Given the description of an element on the screen output the (x, y) to click on. 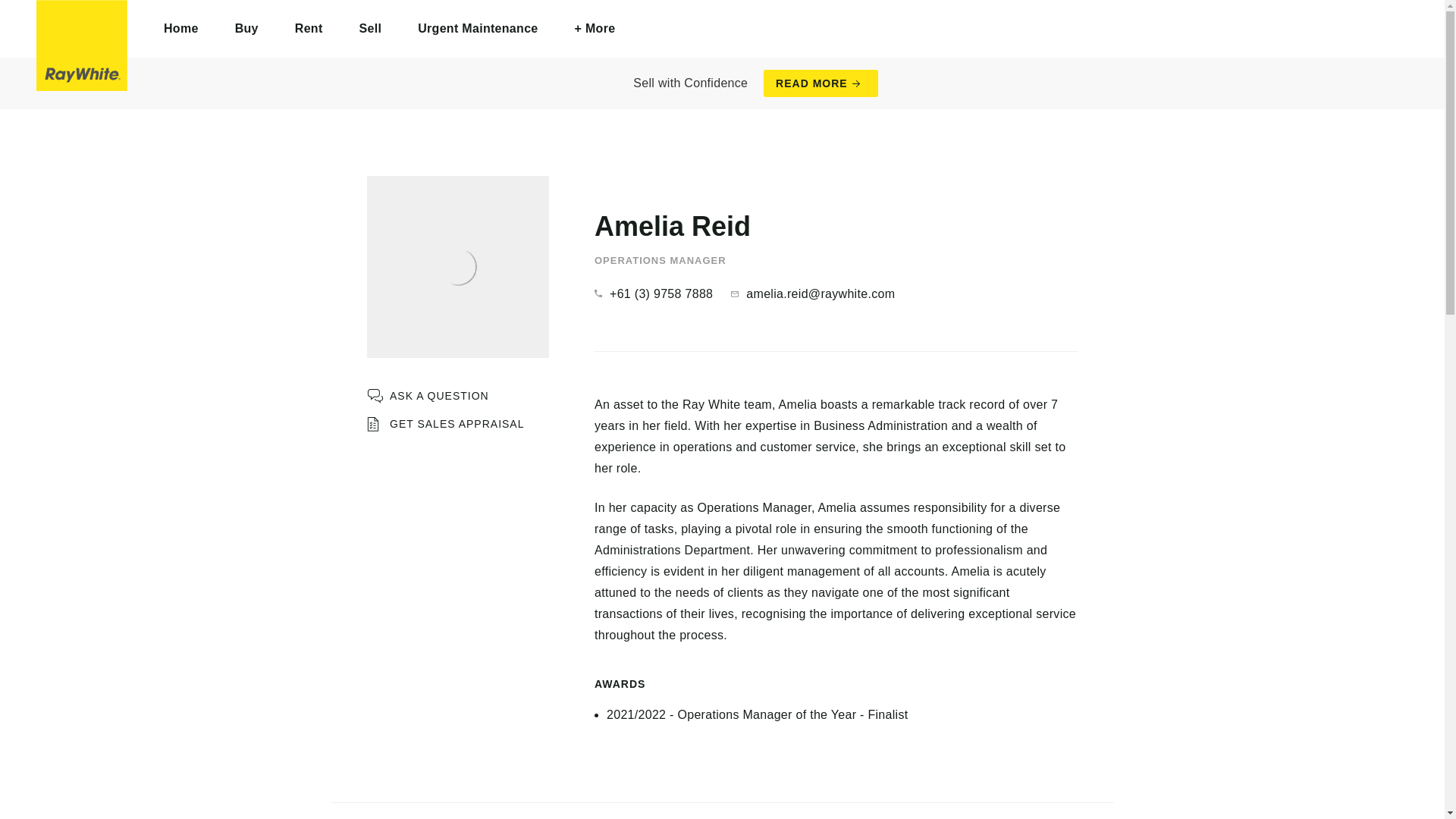
Home (180, 28)
Urgent Maintenance (477, 28)
ASK A QUESTION (427, 396)
GET SALES APPRAISAL (445, 424)
Ray White Ferntree Gully (82, 45)
READ MORE (819, 83)
